Given the description of an element on the screen output the (x, y) to click on. 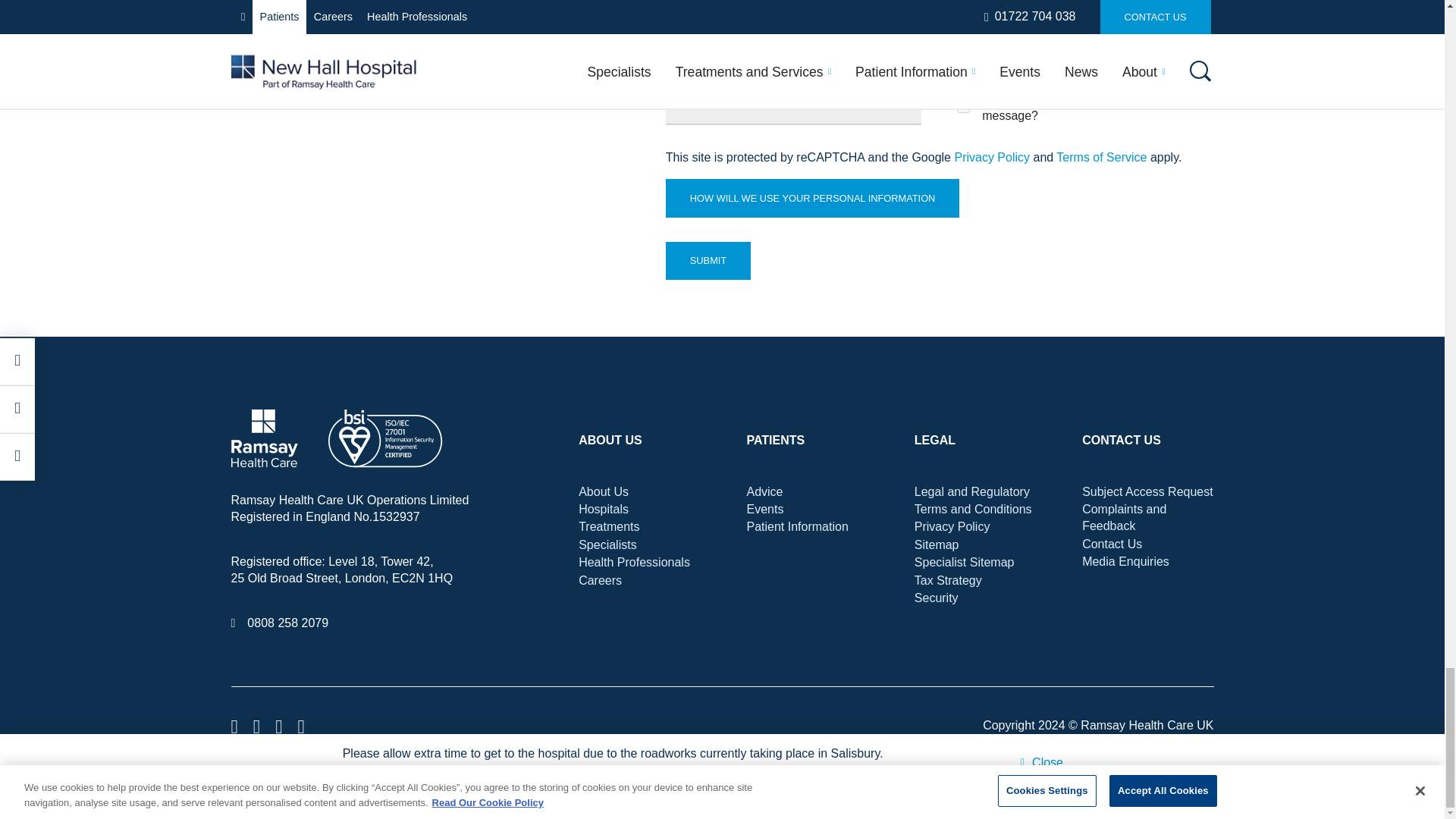
on (963, 106)
Submit (708, 260)
